Given the description of an element on the screen output the (x, y) to click on. 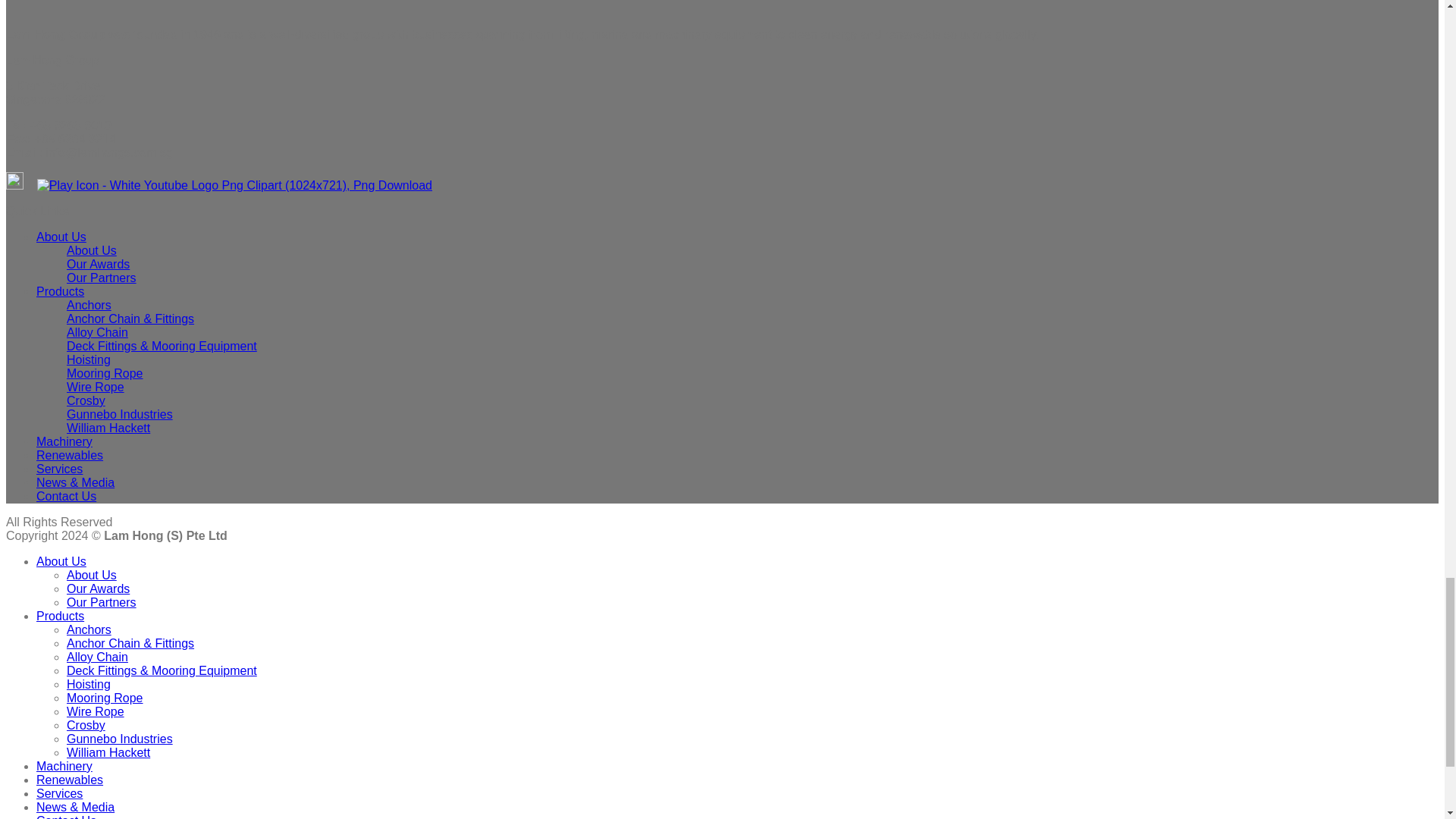
Anchors (89, 305)
About Us (91, 250)
Products (60, 291)
Our Partners (101, 277)
About Us (60, 236)
Our Awards (97, 264)
